Given the description of an element on the screen output the (x, y) to click on. 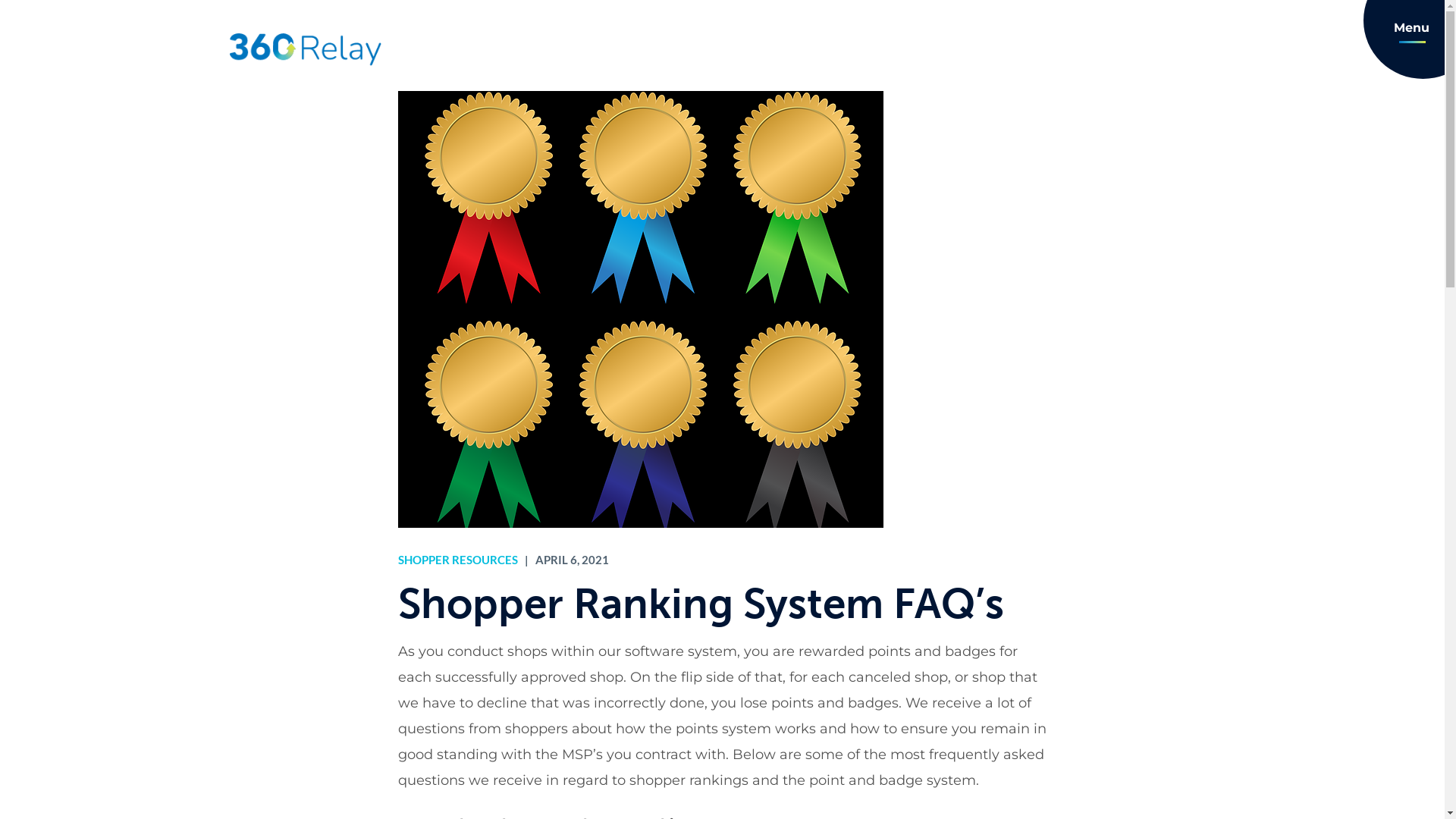
SHOPPER RESOURCES Element type: text (457, 559)
